Given the description of an element on the screen output the (x, y) to click on. 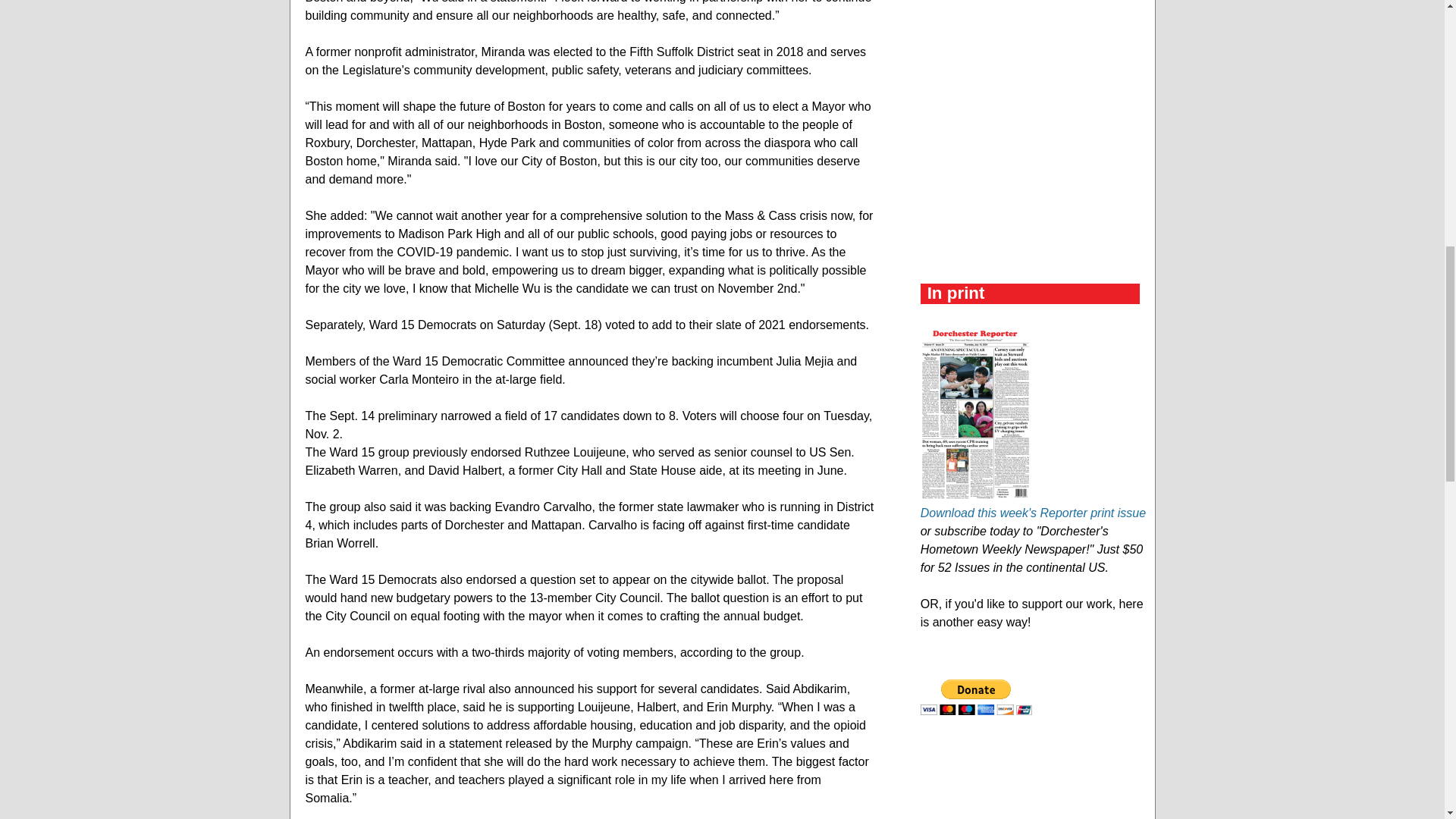
Download this week's Reporter print issue (1032, 512)
PayPal - The safer, easier way to pay online! (976, 696)
3rd party ad content (1034, 32)
